Given the description of an element on the screen output the (x, y) to click on. 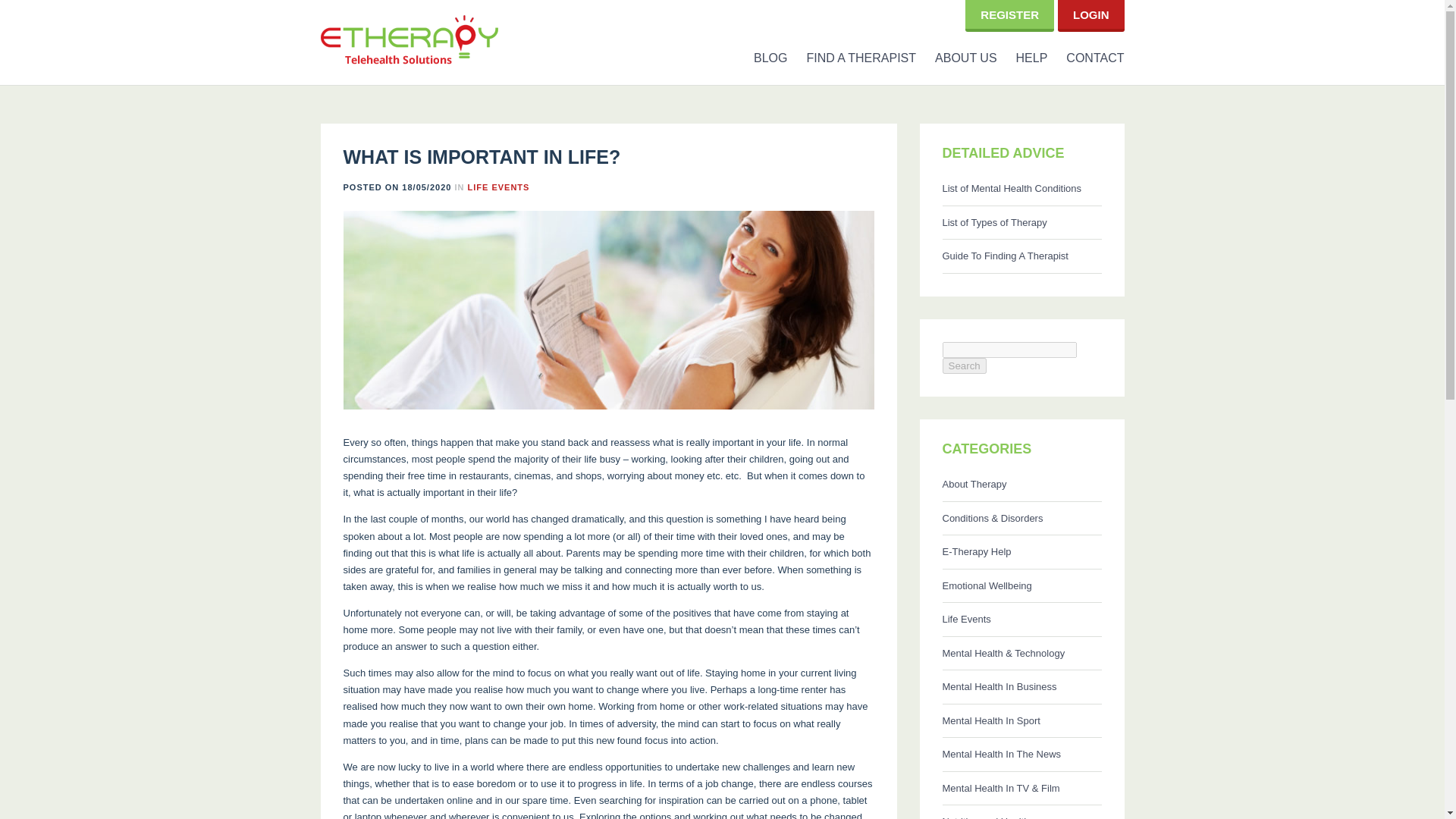
REGISTER (1009, 14)
List of Types of Therapy (1021, 223)
HELP (1022, 58)
LIFE EVENTS (498, 185)
LOGIN (1091, 14)
List of Mental Health Conditions (1021, 188)
Mental Health In Business (1021, 687)
ABOUT US (956, 58)
Search (963, 365)
Nutrition and Health (1021, 812)
